Given the description of an element on the screen output the (x, y) to click on. 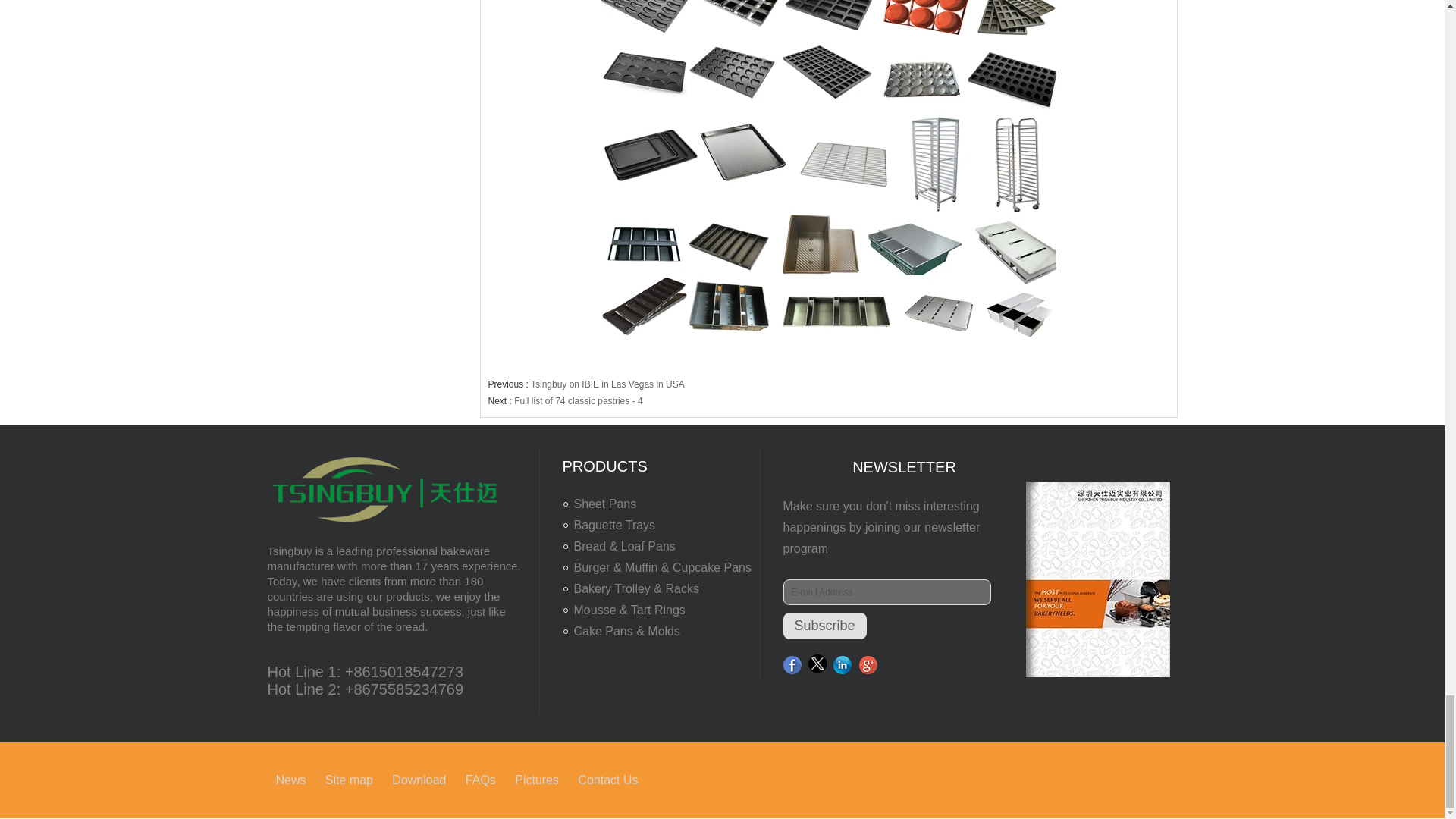
Subscribe (824, 625)
E-mail Address (886, 592)
